Given the description of an element on the screen output the (x, y) to click on. 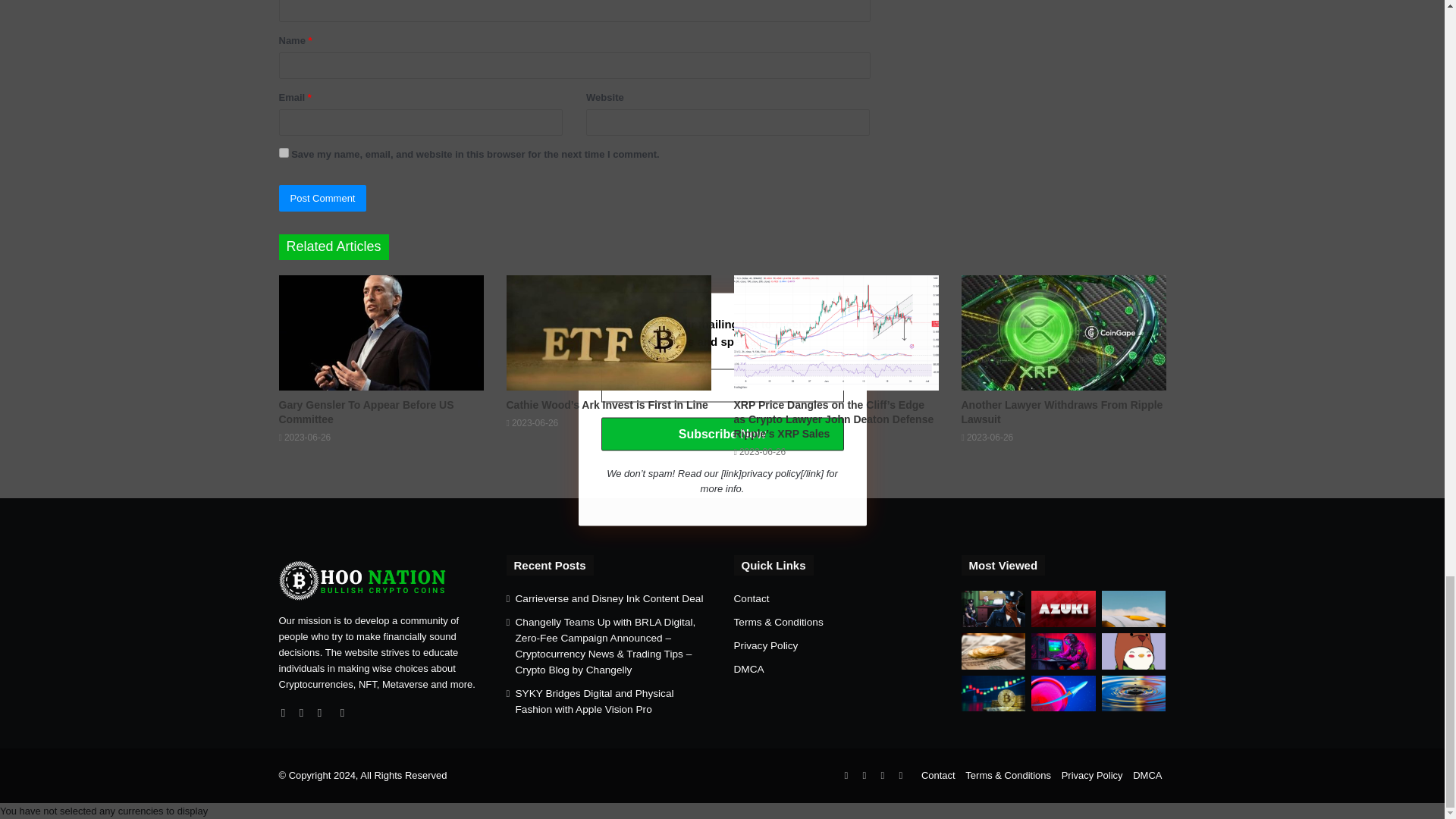
Post Comment (322, 198)
yes (283, 153)
